Given the description of an element on the screen output the (x, y) to click on. 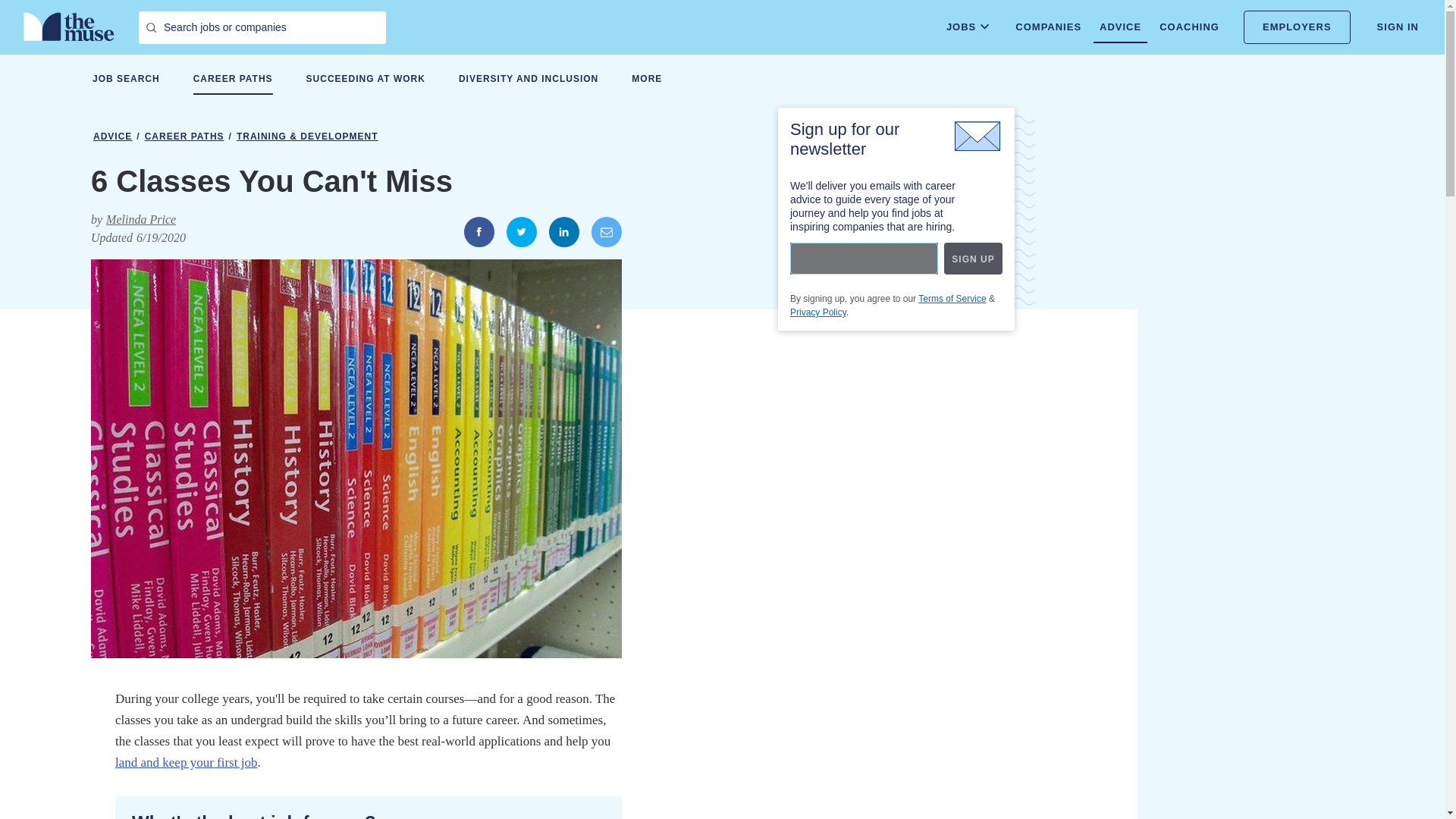
ADVICE (1120, 27)
SIGN IN (1398, 27)
COMPANIES (1048, 27)
EMPLOYERS (1297, 27)
COACHING (1189, 27)
